Given the description of an element on the screen output the (x, y) to click on. 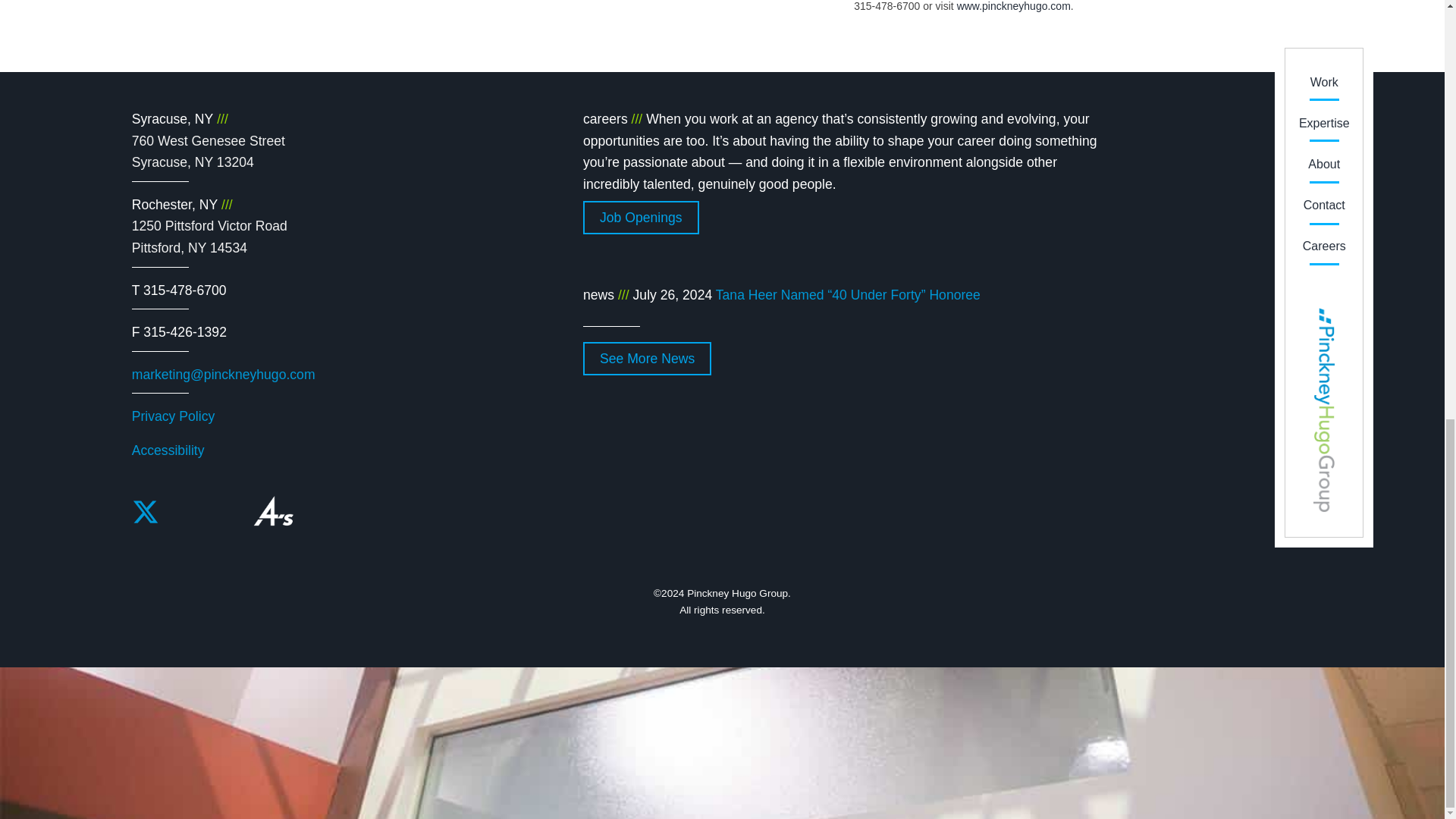
See More News (647, 358)
www.pinckneyhugo.com (1013, 6)
Privacy Policy (173, 416)
Job Openings (209, 236)
Accessibility (640, 217)
